Given the description of an element on the screen output the (x, y) to click on. 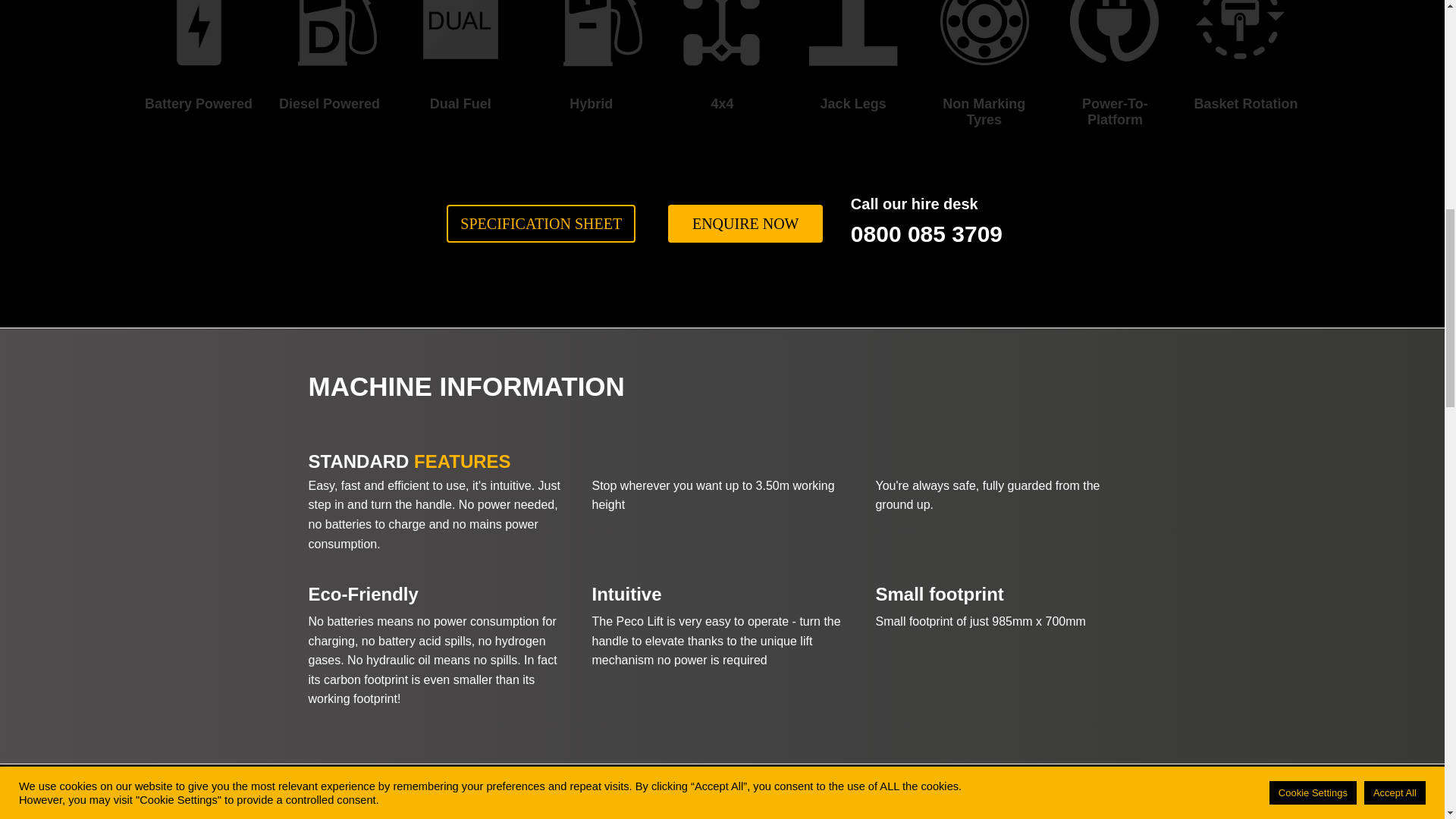
SPECIFICATION SHEET (540, 223)
ENQUIRE NOW (746, 223)
